Given the description of an element on the screen output the (x, y) to click on. 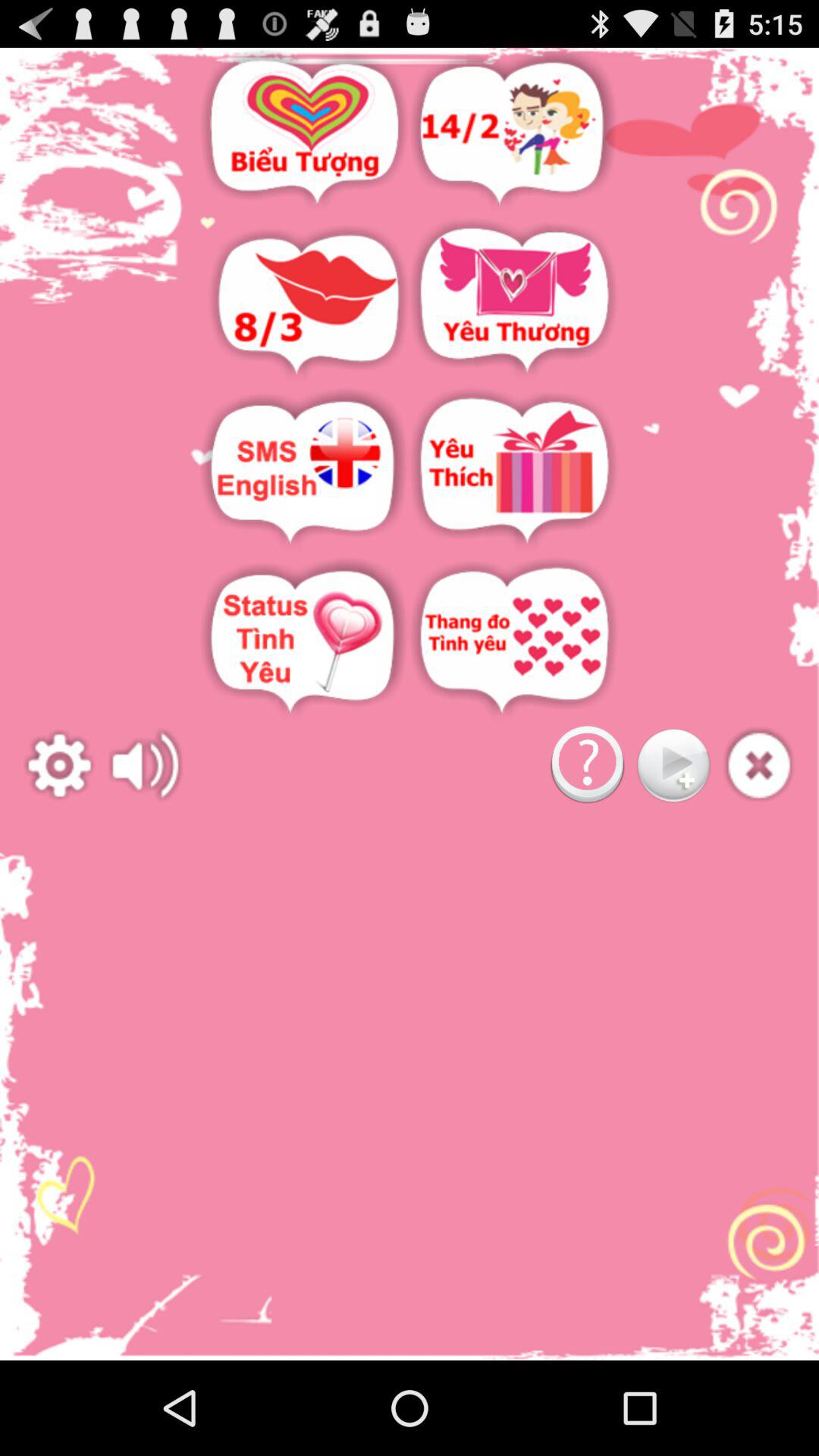
to view selected item (513, 471)
